Given the description of an element on the screen output the (x, y) to click on. 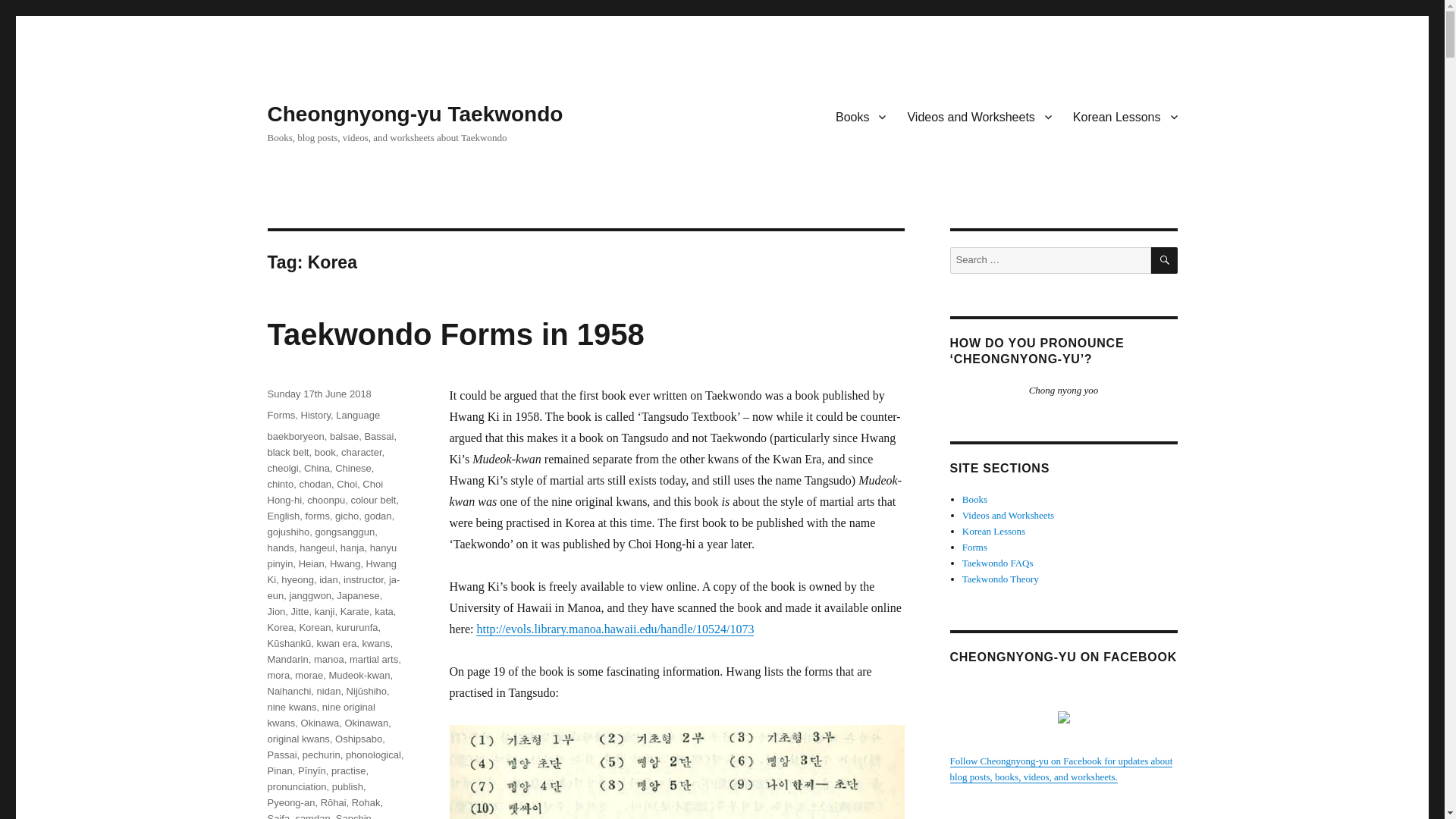
Cheongnyong-yu on Facebook (1060, 768)
book (325, 451)
Language (358, 414)
Taekwondo Forms in 1958 (454, 334)
Korean Lessons (1125, 116)
Videos and Worksheets (978, 116)
balsae (344, 436)
chinto (280, 483)
History (315, 414)
Forms (280, 414)
Books (860, 116)
Sunday 17th June 2018 (318, 393)
baekboryeon (294, 436)
Chinese (352, 468)
China (317, 468)
